Given the description of an element on the screen output the (x, y) to click on. 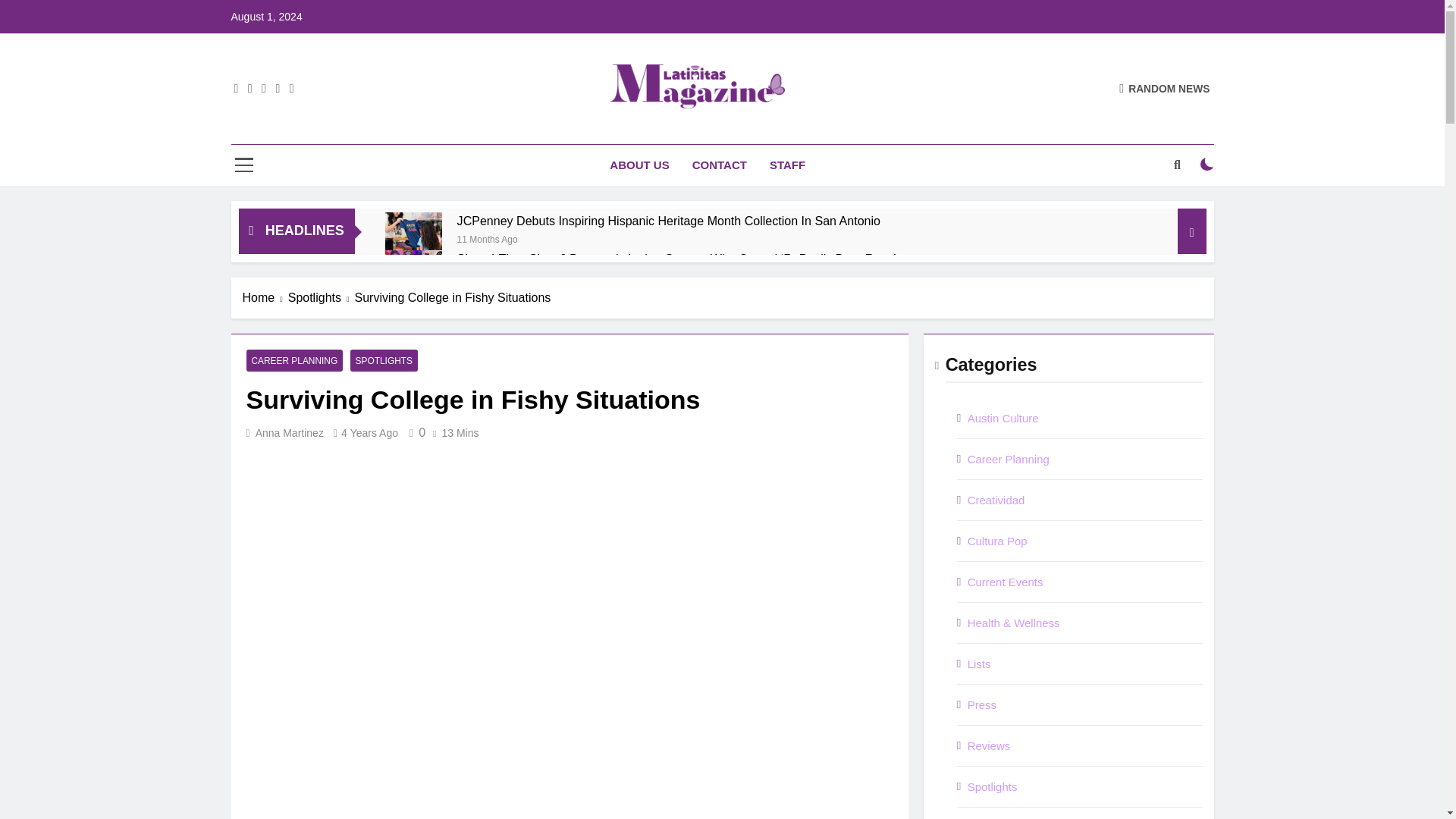
STAFF (787, 164)
CONTACT (719, 164)
ABOUT US (638, 164)
RANDOM NEWS (1164, 88)
Latinitas Magazine (571, 130)
on (1206, 164)
